Given the description of an element on the screen output the (x, y) to click on. 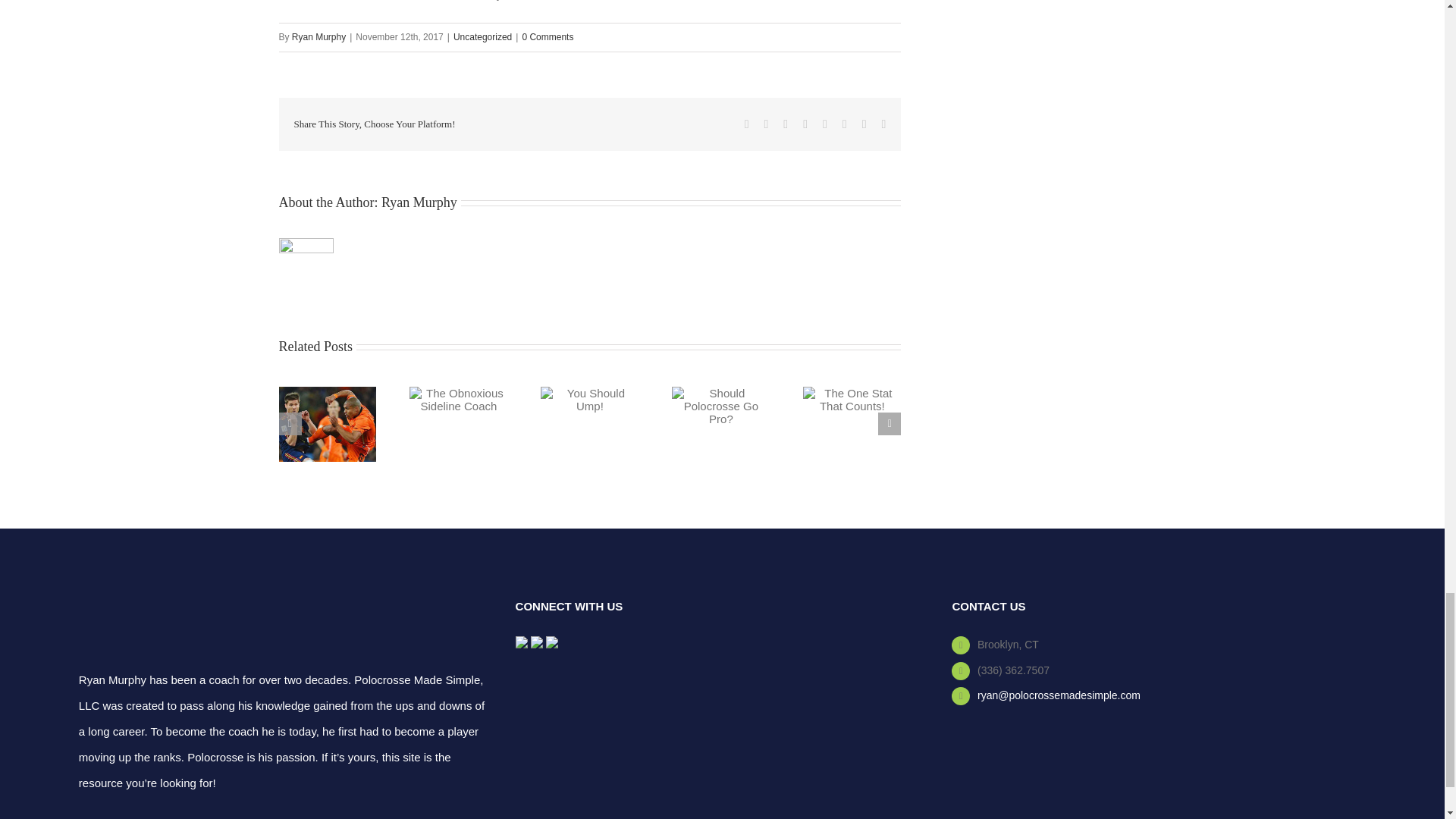
Posts by Ryan Murphy (419, 201)
Posts by Ryan Murphy (319, 36)
Uncategorized (482, 36)
Ryan Murphy (319, 36)
Ryan Murphy (419, 201)
0 Comments (547, 36)
